Given the description of an element on the screen output the (x, y) to click on. 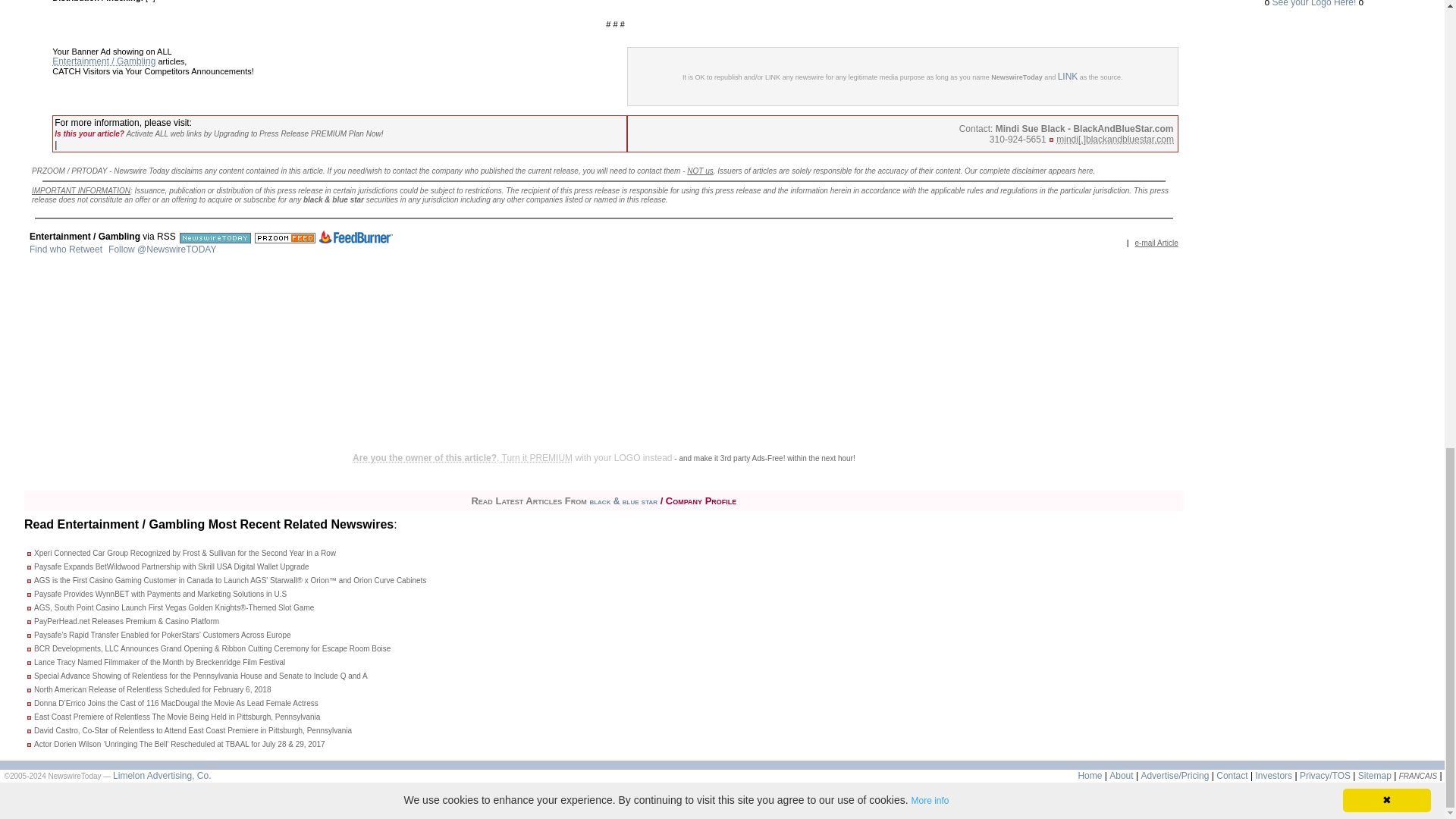
e-mail Article (1156, 242)
Find who Retweet (65, 249)
here (1085, 170)
LINK (1068, 76)
